Given the description of an element on the screen output the (x, y) to click on. 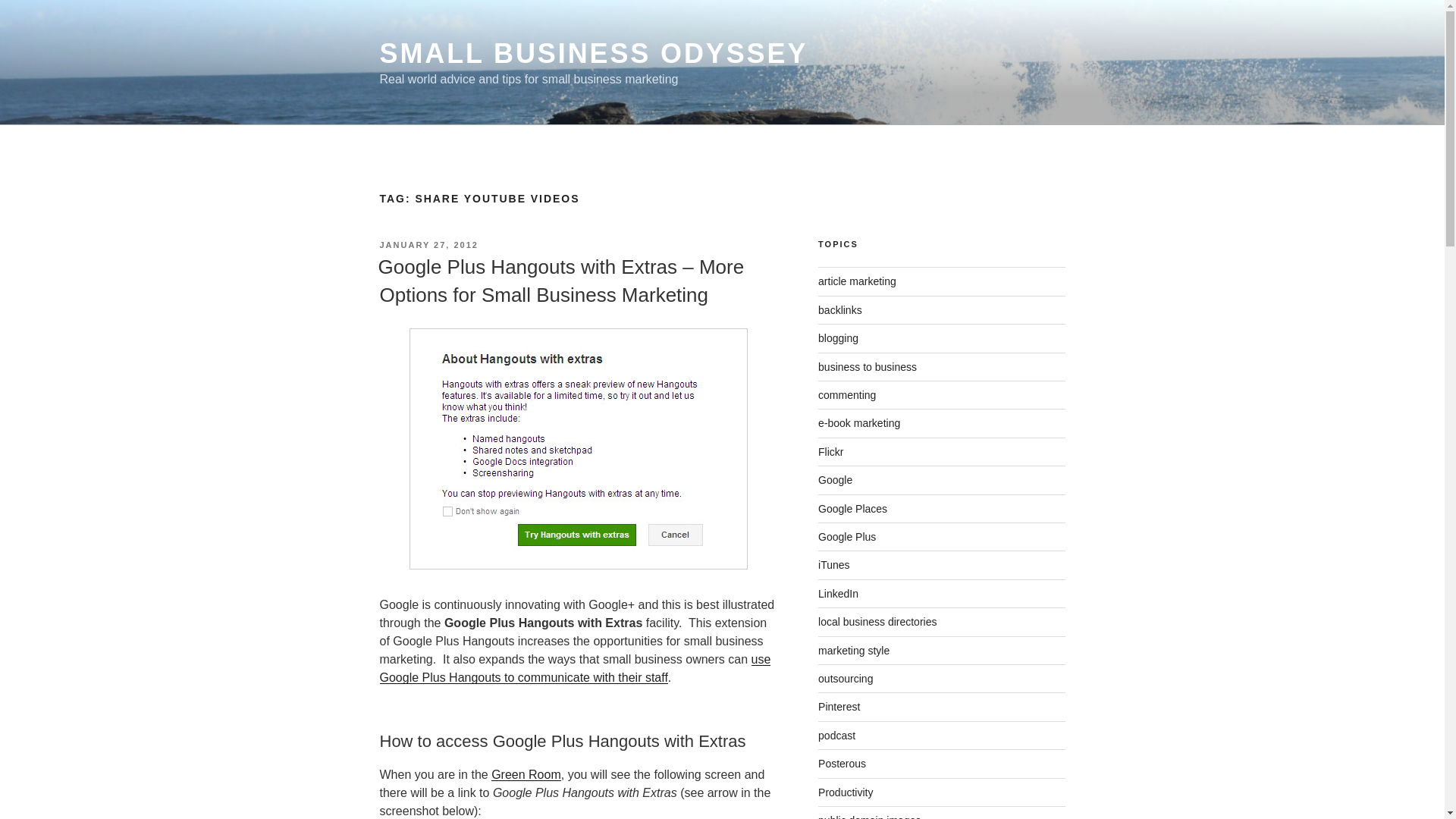
business to business (867, 367)
commenting (847, 395)
Google Plus (847, 536)
outsourcing (845, 678)
Google Places (852, 508)
article marketing (857, 281)
LinkedIn (838, 593)
Posterous (842, 763)
Pinterest (839, 706)
public domain images (869, 816)
